Given the description of an element on the screen output the (x, y) to click on. 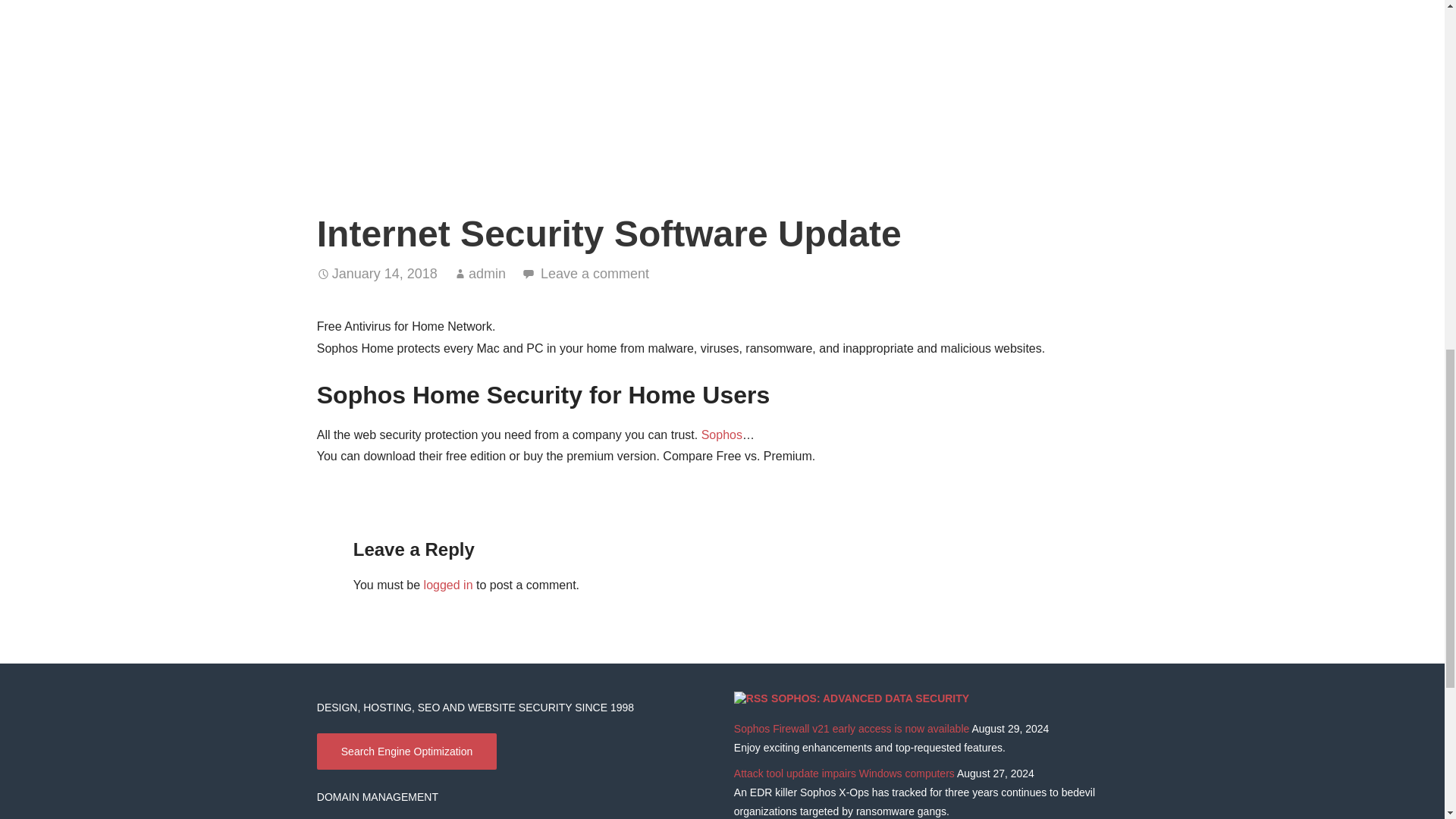
Sophos Firewall v21 early access is now available (851, 728)
admin (486, 273)
Sophos (721, 434)
logged in (448, 584)
SOPHOS: ADVANCED DATA SECURITY (870, 698)
Leave a comment (594, 273)
Search Engine Optimization (407, 751)
Posts by admin (486, 273)
Attack tool update impairs Windows computers (844, 773)
